Given the description of an element on the screen output the (x, y) to click on. 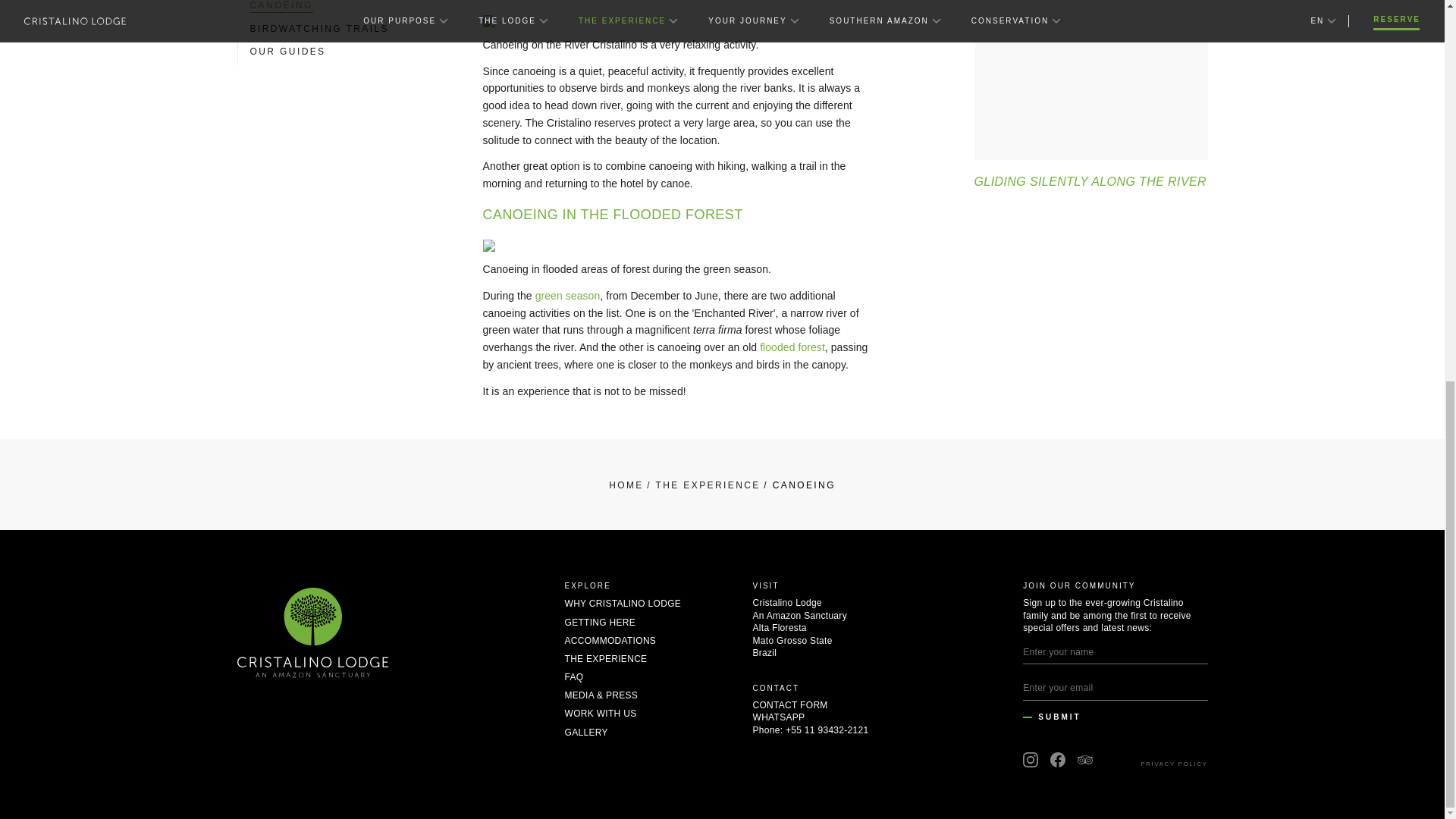
Instagram (1030, 759)
facebook (1057, 759)
CANOEING (281, 6)
Home (625, 484)
THE EXPERIENCE (703, 484)
Tripadvisor (1085, 759)
BIRDWATCHING TRAILS (319, 29)
OUR GUIDES (288, 51)
